Given the description of an element on the screen output the (x, y) to click on. 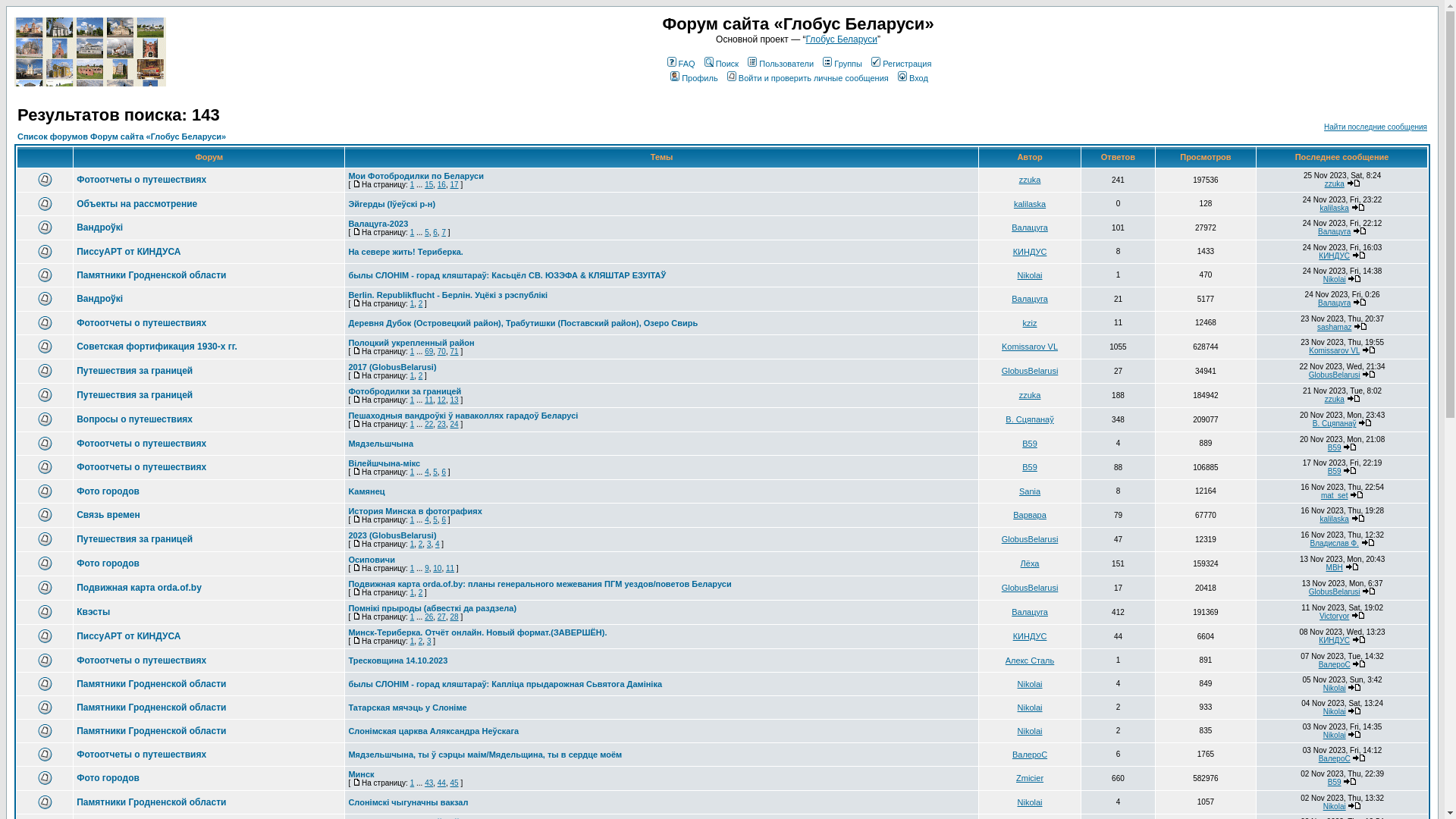
4 Element type: text (437, 543)
3 Element type: text (428, 543)
3 Element type: text (428, 641)
10 Element type: text (437, 568)
zzuka Element type: text (1334, 399)
GlobusBelarusi Element type: text (1334, 374)
kalilaska Element type: text (1333, 518)
7 Element type: text (443, 232)
5 Element type: text (435, 471)
1 Element type: text (412, 471)
mat_set Element type: text (1334, 495)
Komissarov VL Element type: text (1333, 350)
zzuka Element type: text (1030, 394)
1 Element type: text (412, 184)
2 Element type: text (420, 303)
Nikolai Element type: text (1334, 711)
FAQ Element type: text (680, 63)
Nikolai Element type: text (1029, 274)
GlobusBelarusi Element type: text (1029, 538)
2 Element type: text (420, 641)
71 Element type: text (454, 351)
Nikolai Element type: text (1029, 801)
6 Element type: text (443, 471)
1 Element type: text (412, 592)
43 Element type: text (428, 782)
13 Element type: text (454, 399)
GlobusBelarusi Element type: text (1334, 591)
11 Element type: text (428, 399)
1 Element type: text (412, 543)
1 Element type: text (412, 519)
1 Element type: text (412, 399)
9 Element type: text (426, 568)
1 Element type: text (412, 782)
zzuka Element type: text (1030, 179)
24 Element type: text (454, 424)
Zmicier Element type: text (1029, 777)
Nikolai Element type: text (1334, 735)
1 Element type: text (412, 232)
44 Element type: text (441, 782)
1 Element type: text (412, 375)
kalilaska Element type: text (1029, 203)
28 Element type: text (454, 616)
Nikolai Element type: text (1334, 279)
6 Element type: text (435, 232)
45 Element type: text (454, 782)
1 Element type: text (412, 424)
Nikolai Element type: text (1334, 806)
Nikolai Element type: text (1334, 688)
17 Element type: text (454, 184)
1 Element type: text (412, 351)
2023 (GlobusBelarusi) Element type: text (392, 534)
26 Element type: text (428, 616)
2 Element type: text (420, 592)
1 Element type: text (412, 641)
Sania Element type: text (1029, 490)
4 Element type: text (426, 471)
2017 (GlobusBelarusi) Element type: text (392, 366)
70 Element type: text (441, 351)
5 Element type: text (426, 232)
1 Element type: text (412, 616)
Komissarov VL Element type: text (1029, 346)
4 Element type: text (426, 519)
MBH Element type: text (1334, 567)
1 Element type: text (412, 568)
27 Element type: text (441, 616)
GlobusBelarusi Element type: text (1029, 370)
Nikolai Element type: text (1029, 683)
GlobusBelarusi Element type: text (1029, 587)
zzuka Element type: text (1334, 183)
6 Element type: text (443, 519)
69 Element type: text (428, 351)
2 Element type: text (420, 543)
sashamaz Element type: text (1334, 327)
2 Element type: text (420, 375)
15 Element type: text (428, 184)
kalilaska Element type: text (1333, 207)
11 Element type: text (449, 568)
1 Element type: text (412, 303)
12 Element type: text (441, 399)
Nikolai Element type: text (1029, 707)
Victoryor Element type: text (1334, 615)
kziz Element type: text (1029, 322)
22 Element type: text (428, 424)
23 Element type: text (441, 424)
16 Element type: text (441, 184)
5 Element type: text (435, 519)
Nikolai Element type: text (1029, 730)
